Given the description of an element on the screen output the (x, y) to click on. 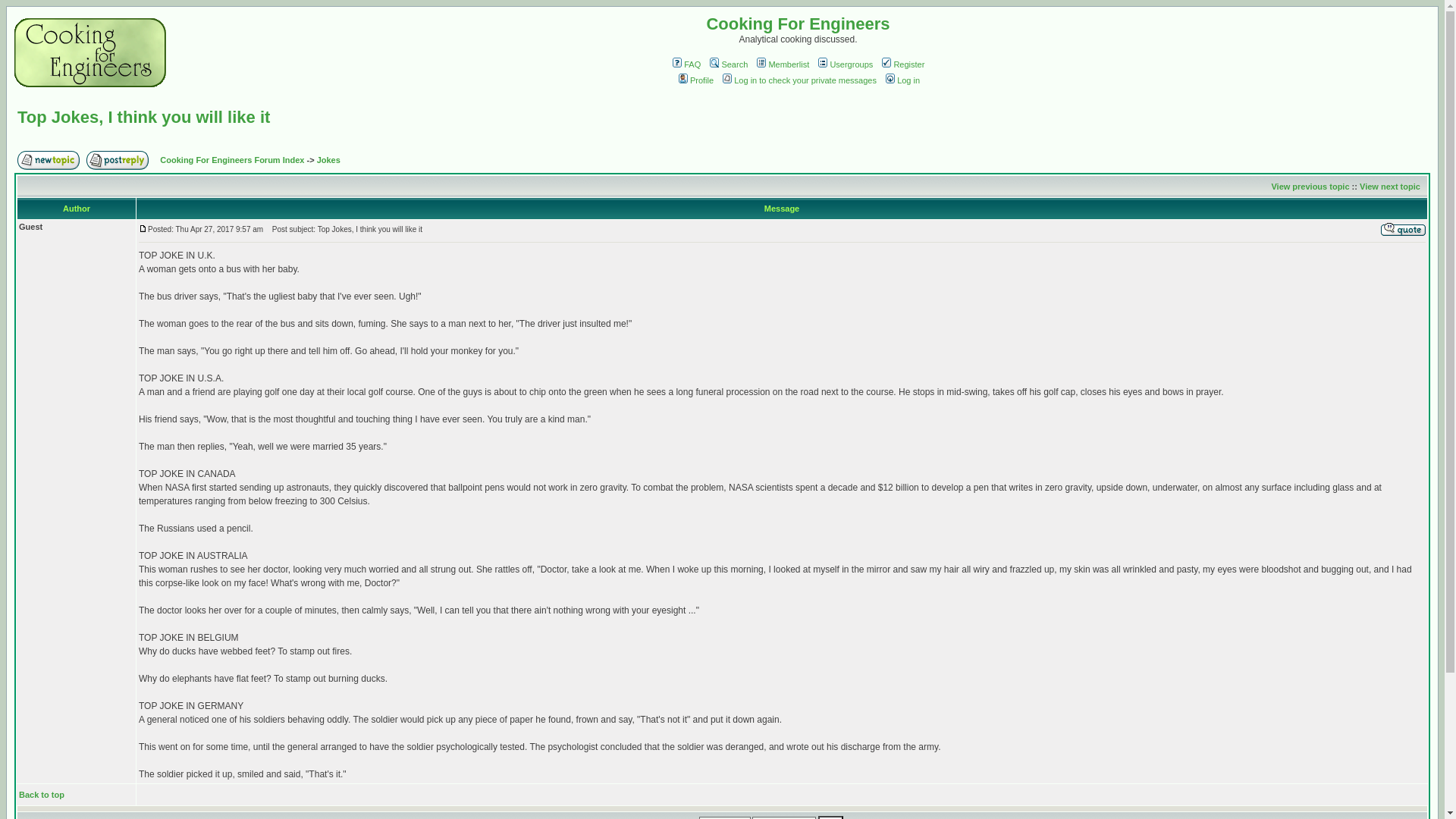
Register (901, 63)
Cooking For Engineers (797, 23)
Jokes (328, 159)
Go (830, 817)
Top Jokes, I think you will like it (143, 116)
Cooking For Engineers Forum Index (232, 159)
Search (727, 63)
Back to top (41, 794)
Profile (695, 80)
Log in (901, 80)
Memberlist (781, 63)
View next topic (1390, 185)
Log in to check your private messages (798, 80)
Go (830, 817)
View previous topic (1310, 185)
